Given the description of an element on the screen output the (x, y) to click on. 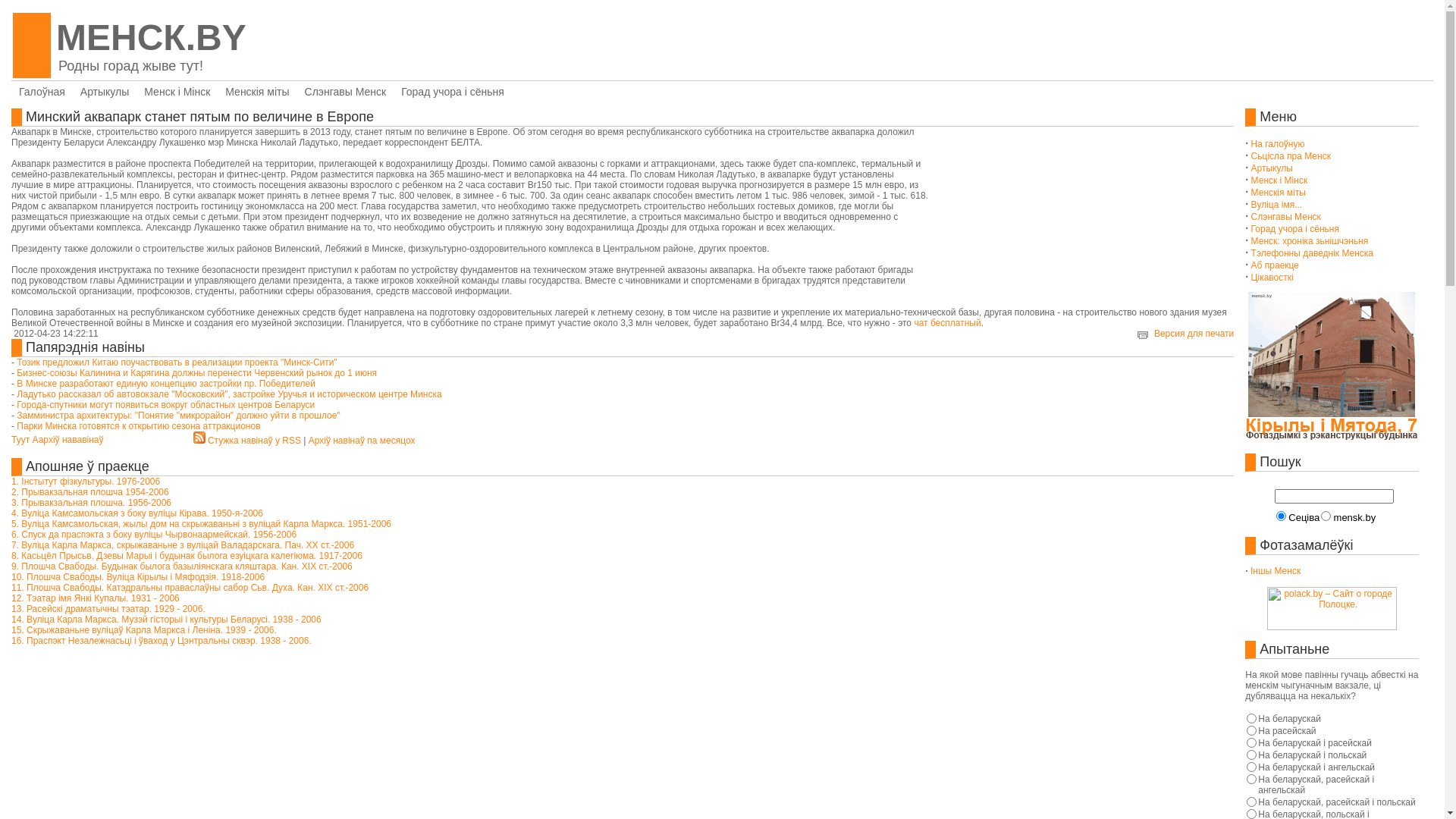
i Element type: text (88, 438)
Advertisement Element type: hover (1007, 202)
